Given the description of an element on the screen output the (x, y) to click on. 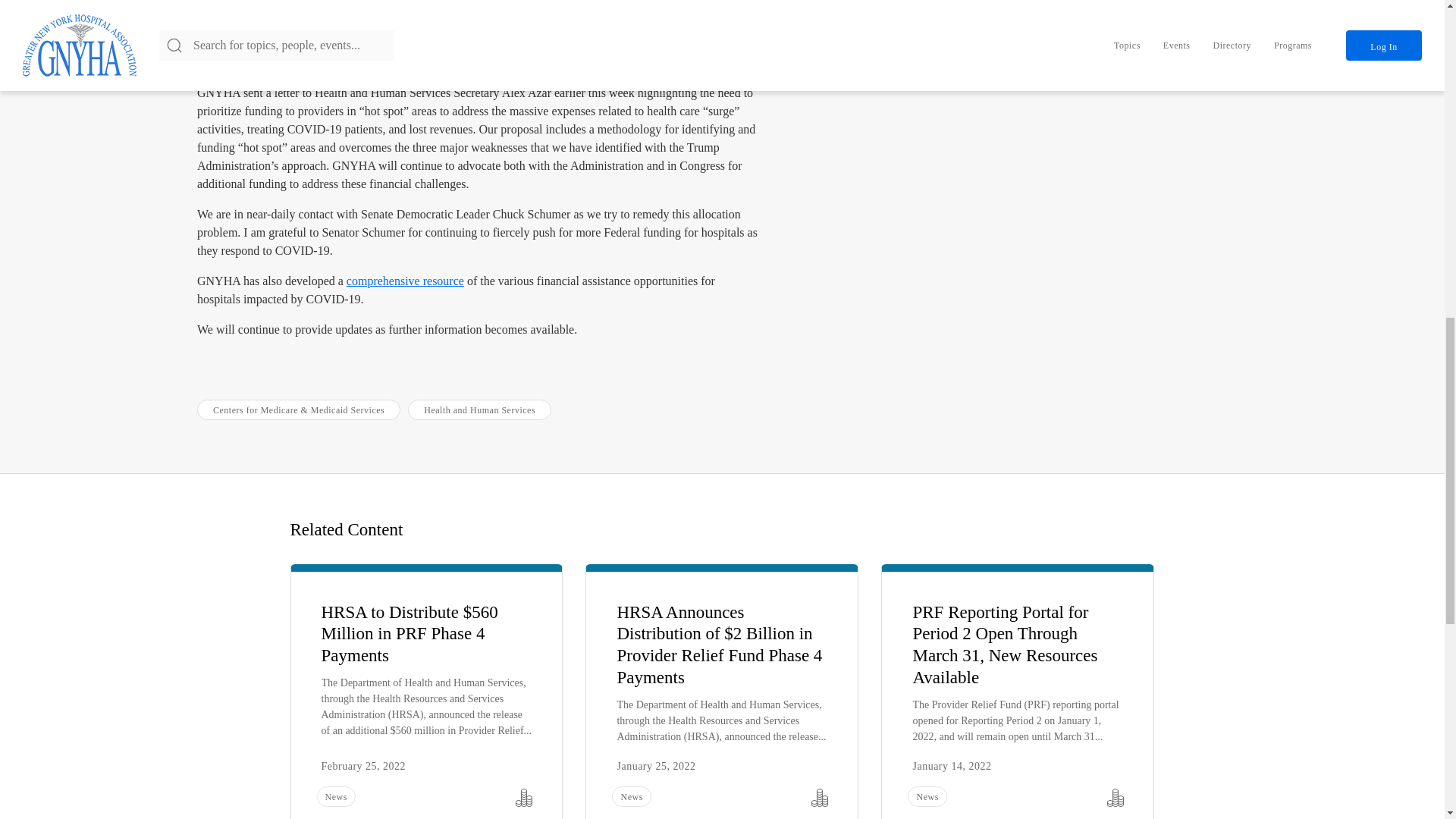
Finance Icon (819, 797)
Finance Icon (1115, 797)
comprehensive resource (405, 280)
Finance Icon (523, 797)
Health and Human Services (479, 409)
